Given the description of an element on the screen output the (x, y) to click on. 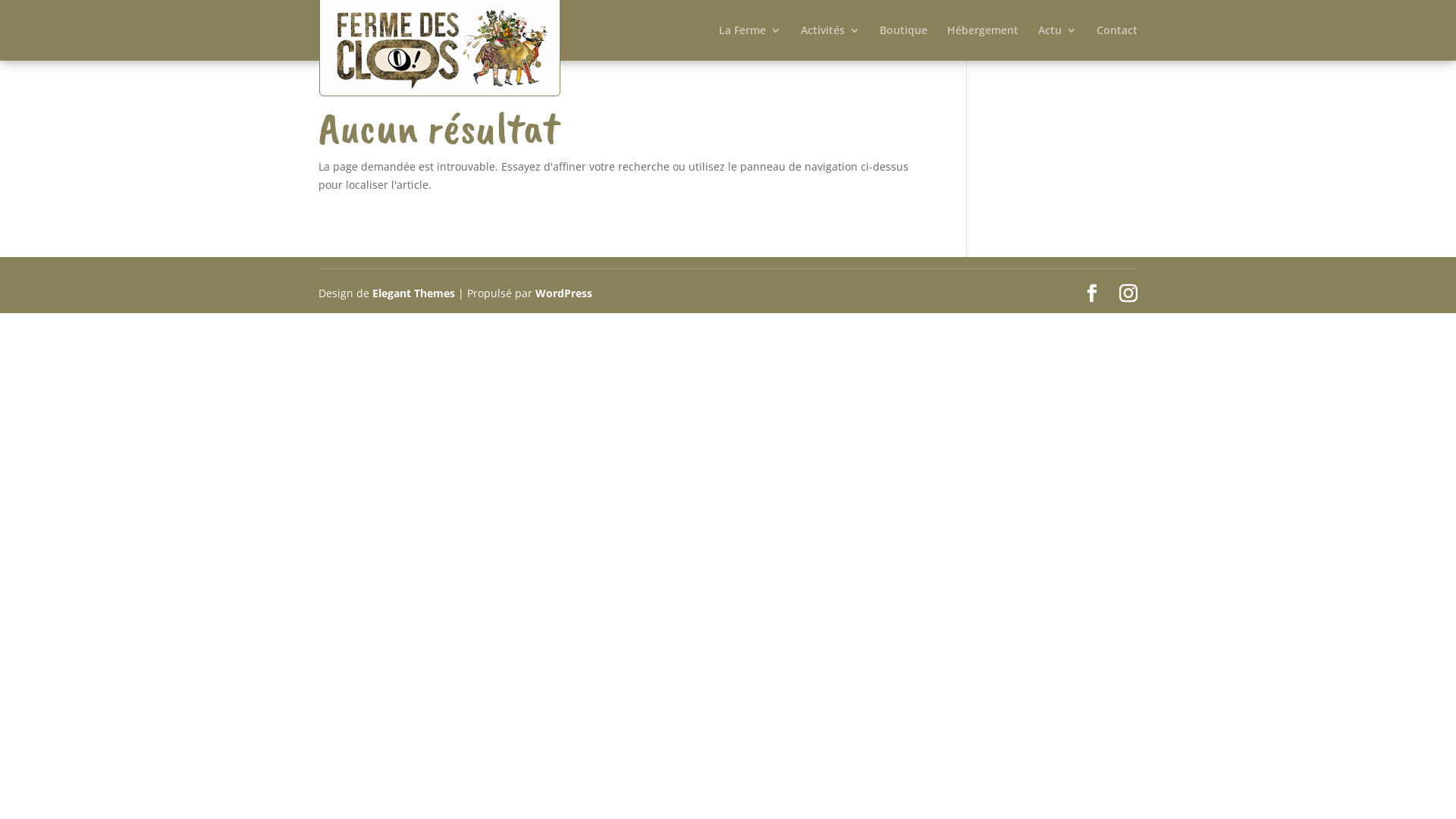
Elegant Themes Element type: text (413, 292)
Actu Element type: text (1057, 42)
WordPress Element type: text (563, 292)
La Ferme Element type: text (749, 42)
Boutique Element type: text (903, 42)
Contact Element type: text (1116, 42)
